Given the description of an element on the screen output the (x, y) to click on. 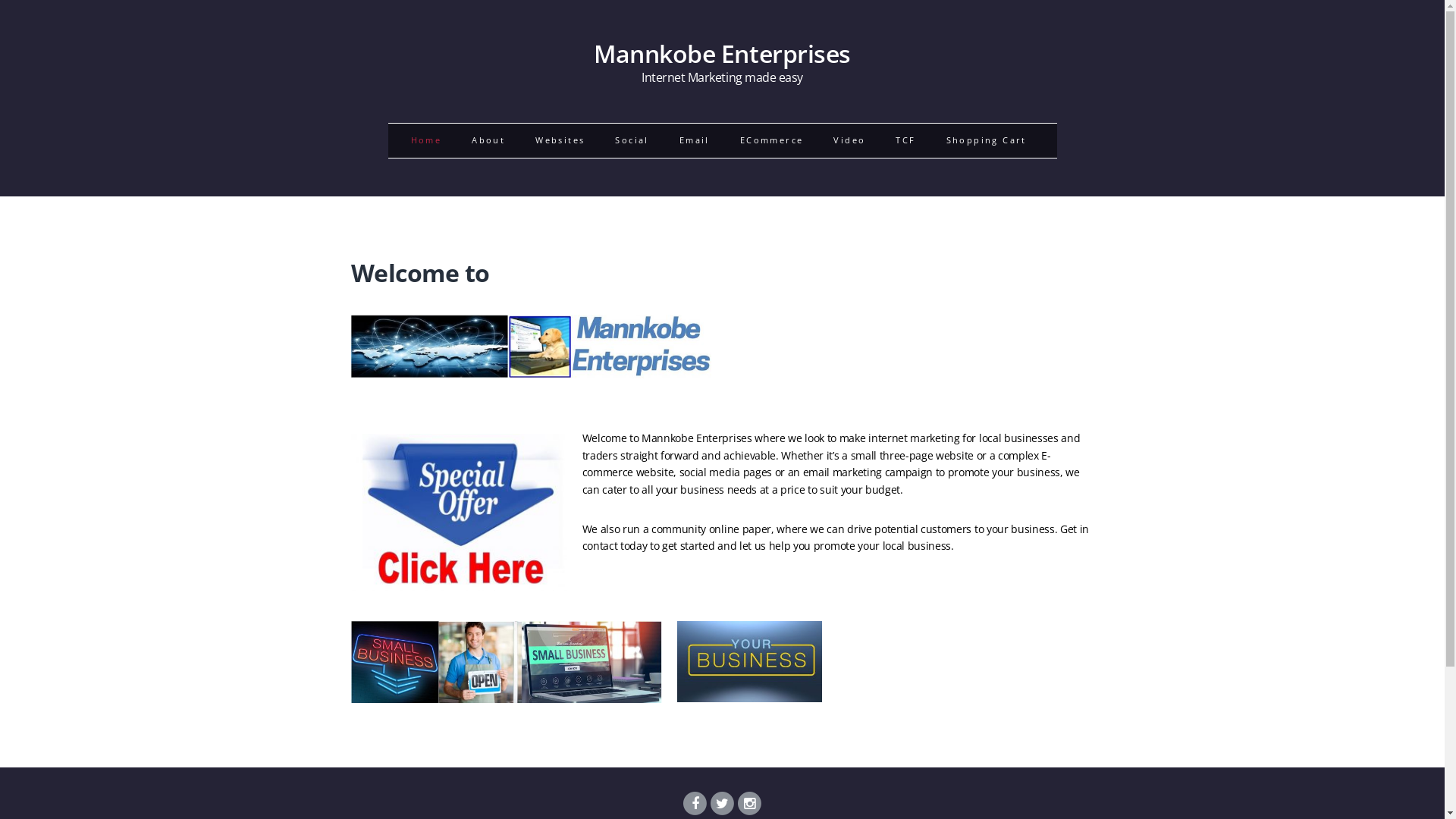
Mannkobe Enterprises
Internet Marketing made easy Element type: text (721, 60)
Email Element type: text (694, 139)
Social Element type: text (631, 139)
Home Element type: text (426, 139)
Websites Element type: text (559, 139)
Video Element type: text (848, 139)
About Element type: text (488, 139)
TCF Element type: text (905, 139)
Shopping Cart Element type: text (986, 139)
ECommerce Element type: text (771, 139)
